Given the description of an element on the screen output the (x, y) to click on. 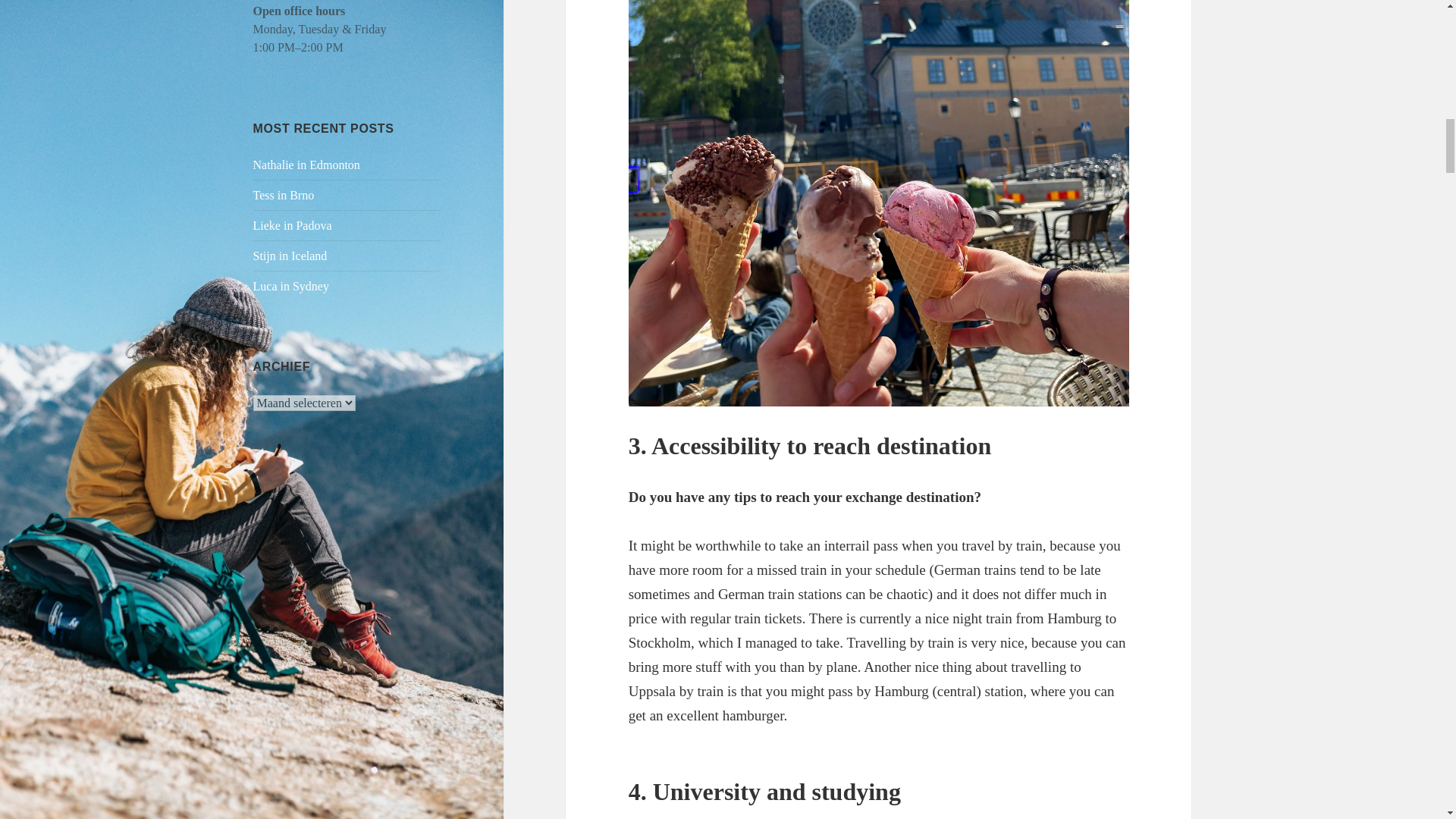
Nathalie in Edmonton (306, 164)
Lieke in Padova (292, 225)
Tess in Brno (283, 195)
